Given the description of an element on the screen output the (x, y) to click on. 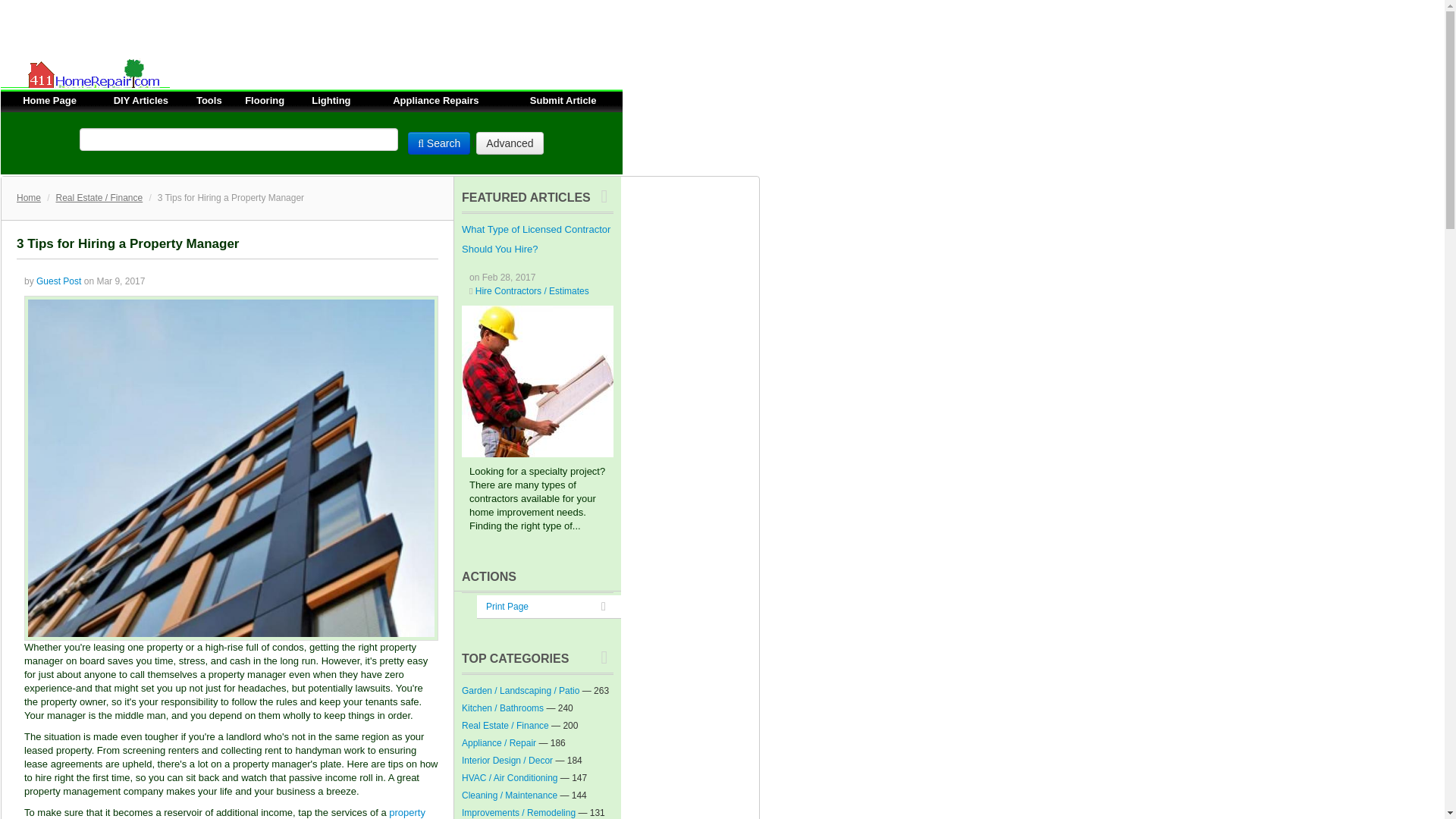
Tools (209, 100)
Lighting (330, 100)
Home (28, 197)
Advertisement (275, 34)
Advanced (509, 142)
Search (438, 142)
Home Page (50, 100)
Appliance Repairs (436, 100)
DIY Articles (140, 100)
Guest Post (58, 281)
Submit Article (562, 100)
Flooring (263, 100)
What Type of Licensed Contractor Should You Hire? (536, 381)
property manager (224, 812)
